Given the description of an element on the screen output the (x, y) to click on. 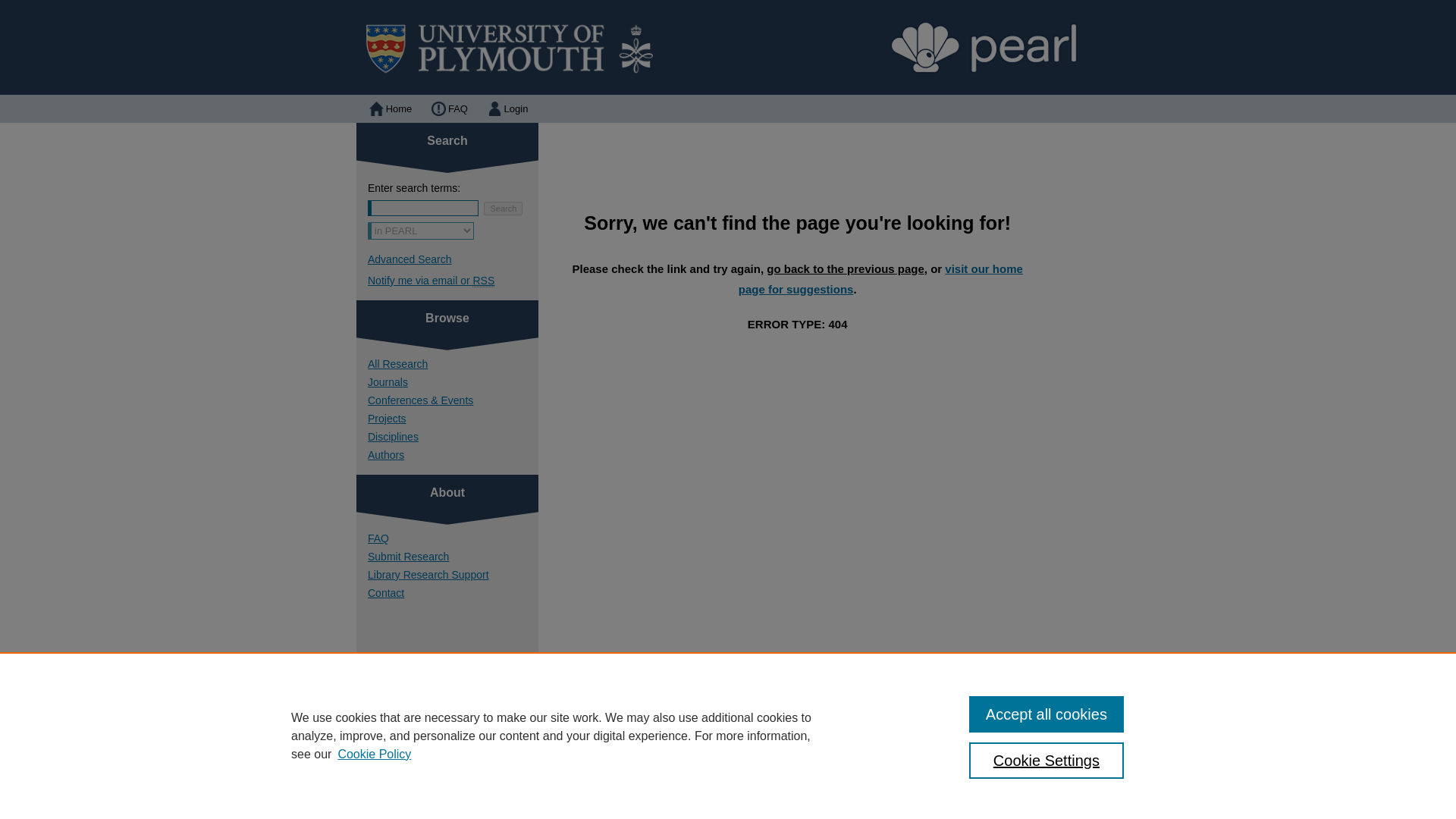
My Account (674, 779)
FAQ (448, 108)
PEARL (727, 47)
Contact (453, 592)
Accessibility Statement (771, 779)
Copyright (622, 799)
Advanced Search (409, 259)
Authors (453, 454)
Journals (453, 381)
Cookie Settings (1046, 760)
Browse by Disciplines (453, 436)
FAQ (618, 779)
Email or RSS Notifications (453, 280)
FAQ (448, 108)
Cookie Policy (373, 753)
